Given the description of an element on the screen output the (x, y) to click on. 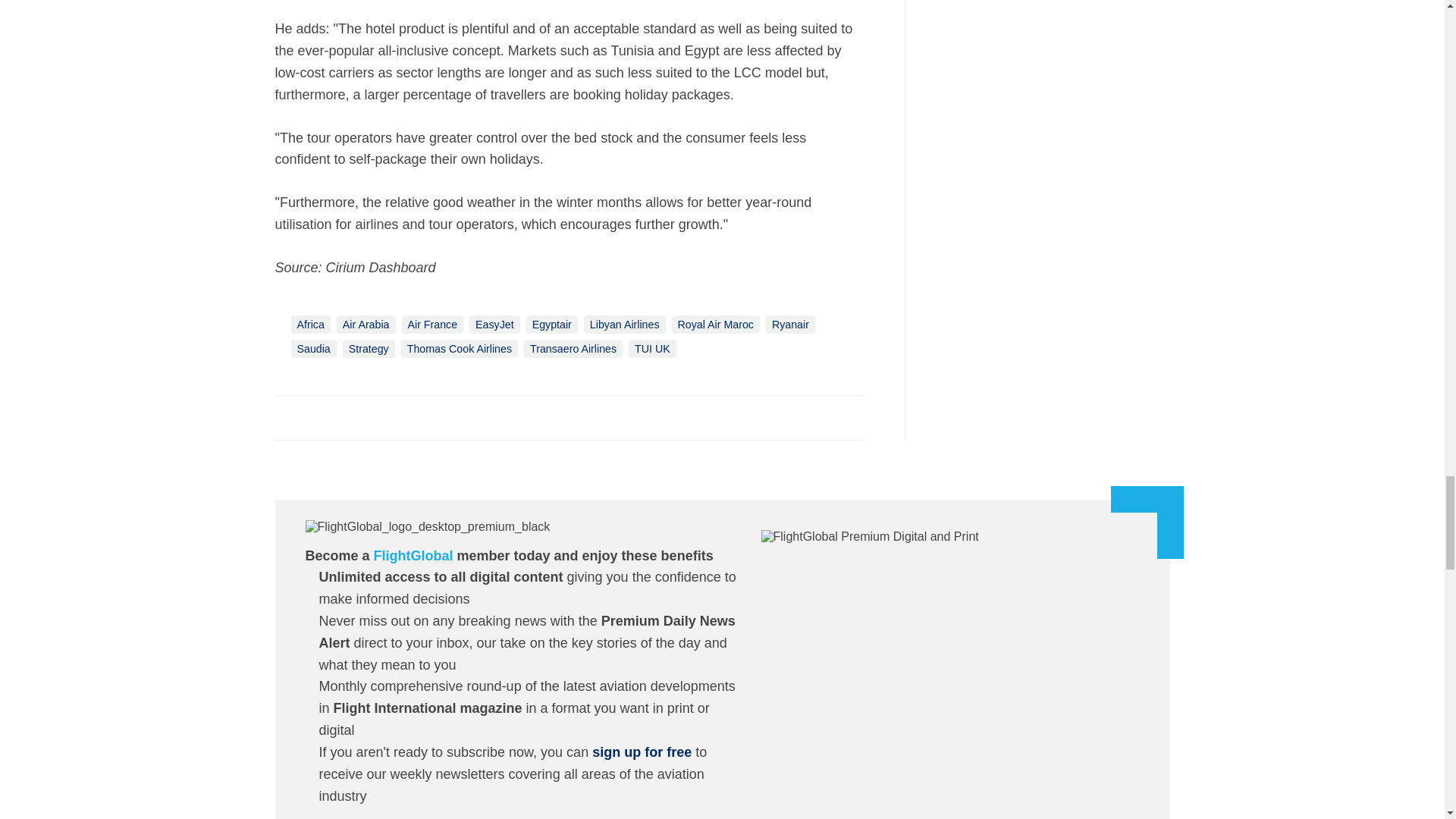
Share this on Linked in (352, 416)
Share this on Twitter (320, 416)
Share this on Facebook (288, 416)
Email this article (386, 416)
